Given the description of an element on the screen output the (x, y) to click on. 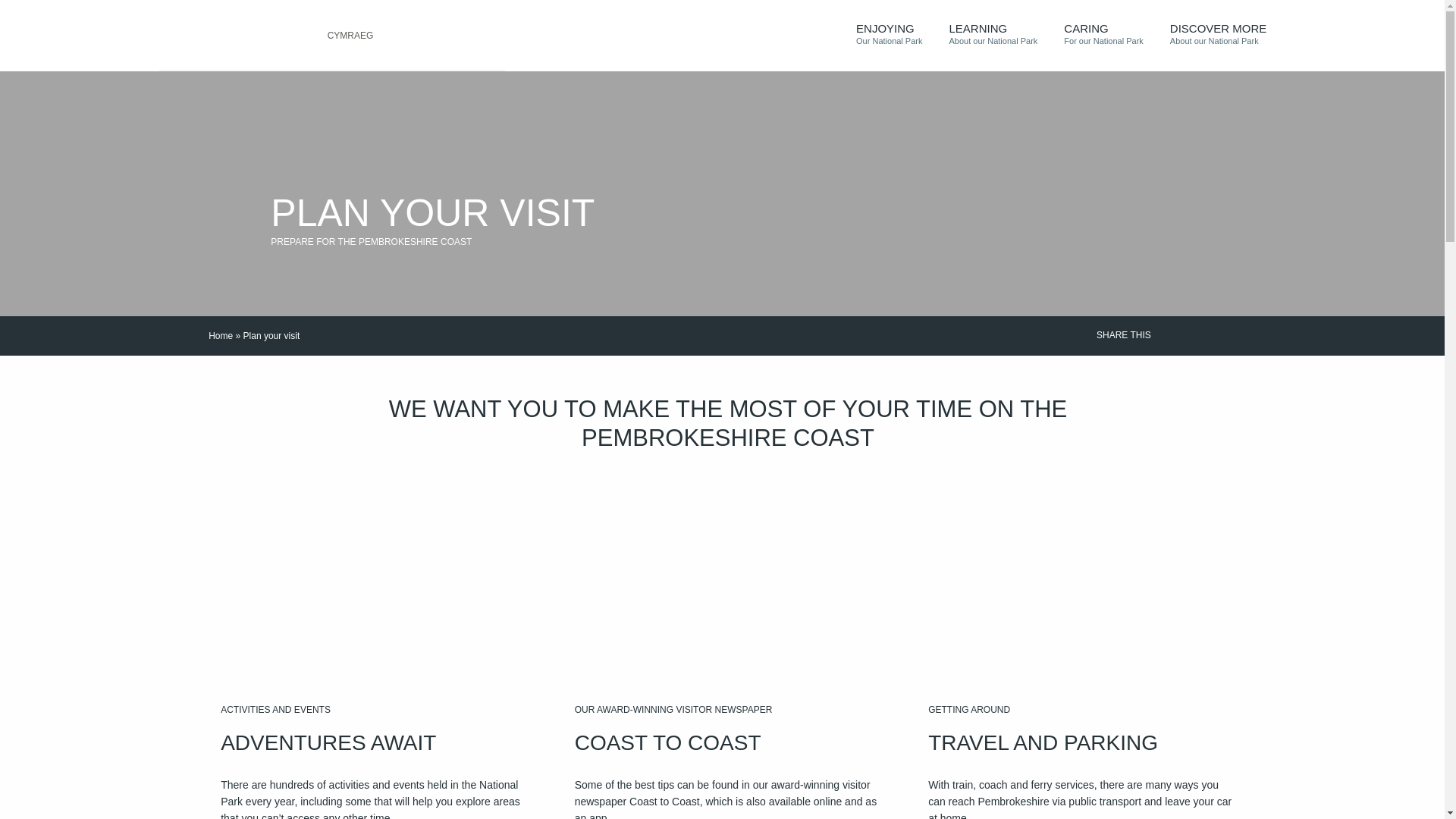
search (434, 34)
View your shopping basket (1000, 35)
Welsh (398, 34)
Accessibility Menu (350, 34)
CYMRAEG (896, 35)
